Given the description of an element on the screen output the (x, y) to click on. 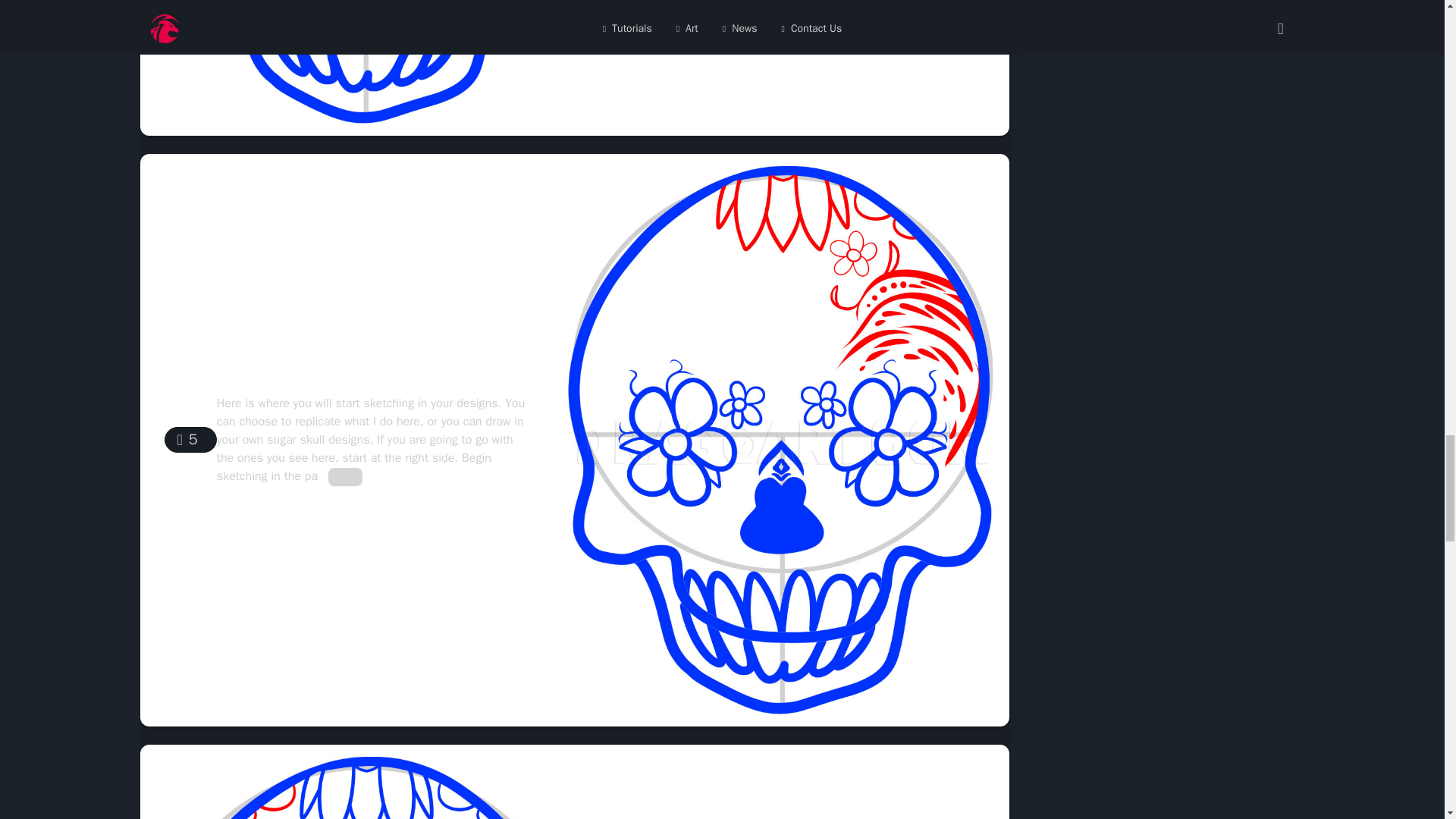
more (345, 476)
